Given the description of an element on the screen output the (x, y) to click on. 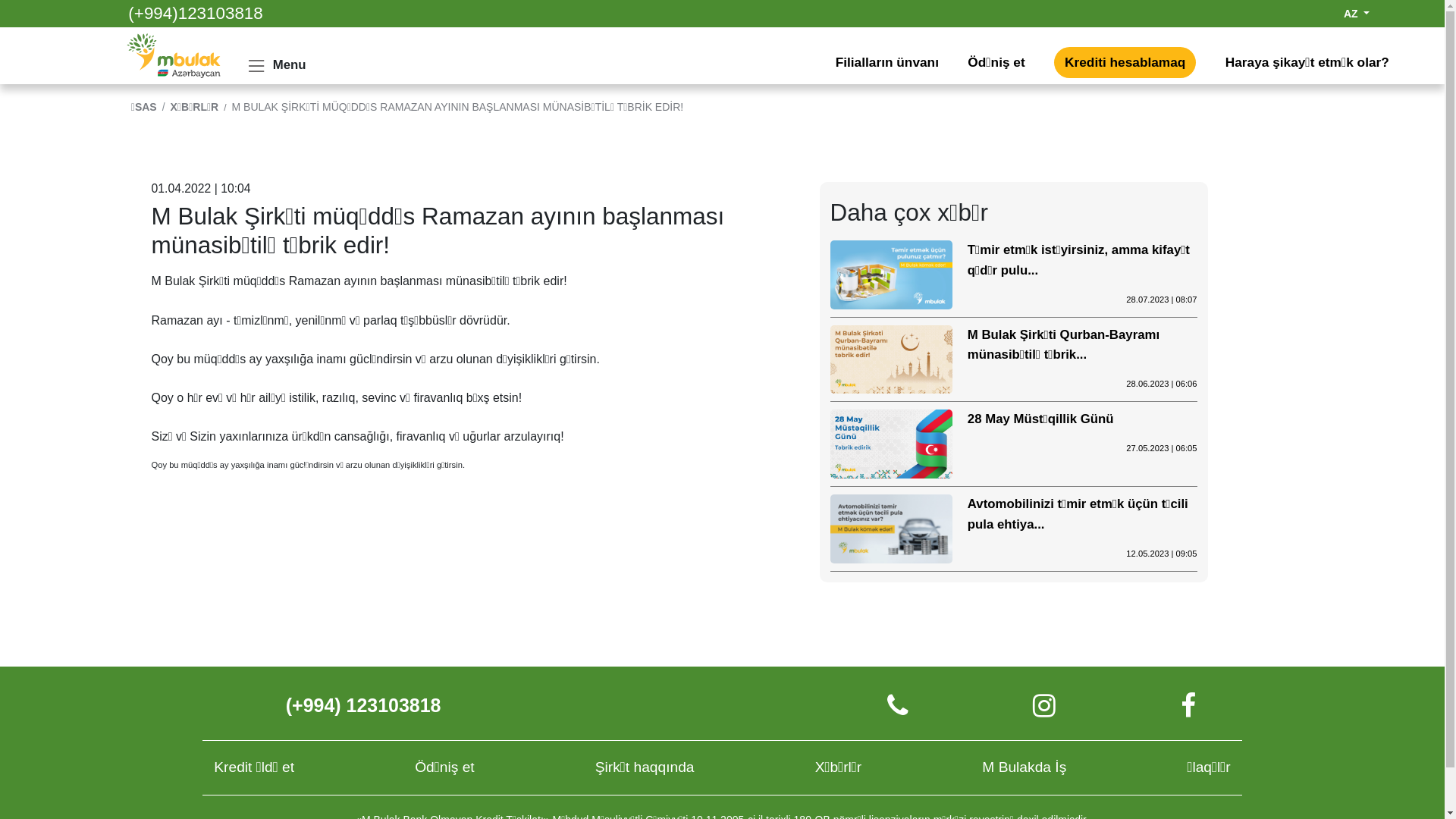
Menu Element type: text (274, 65)
AZ Element type: text (1356, 13)
(+994) 123103818 Element type: text (363, 704)
